Given the description of an element on the screen output the (x, y) to click on. 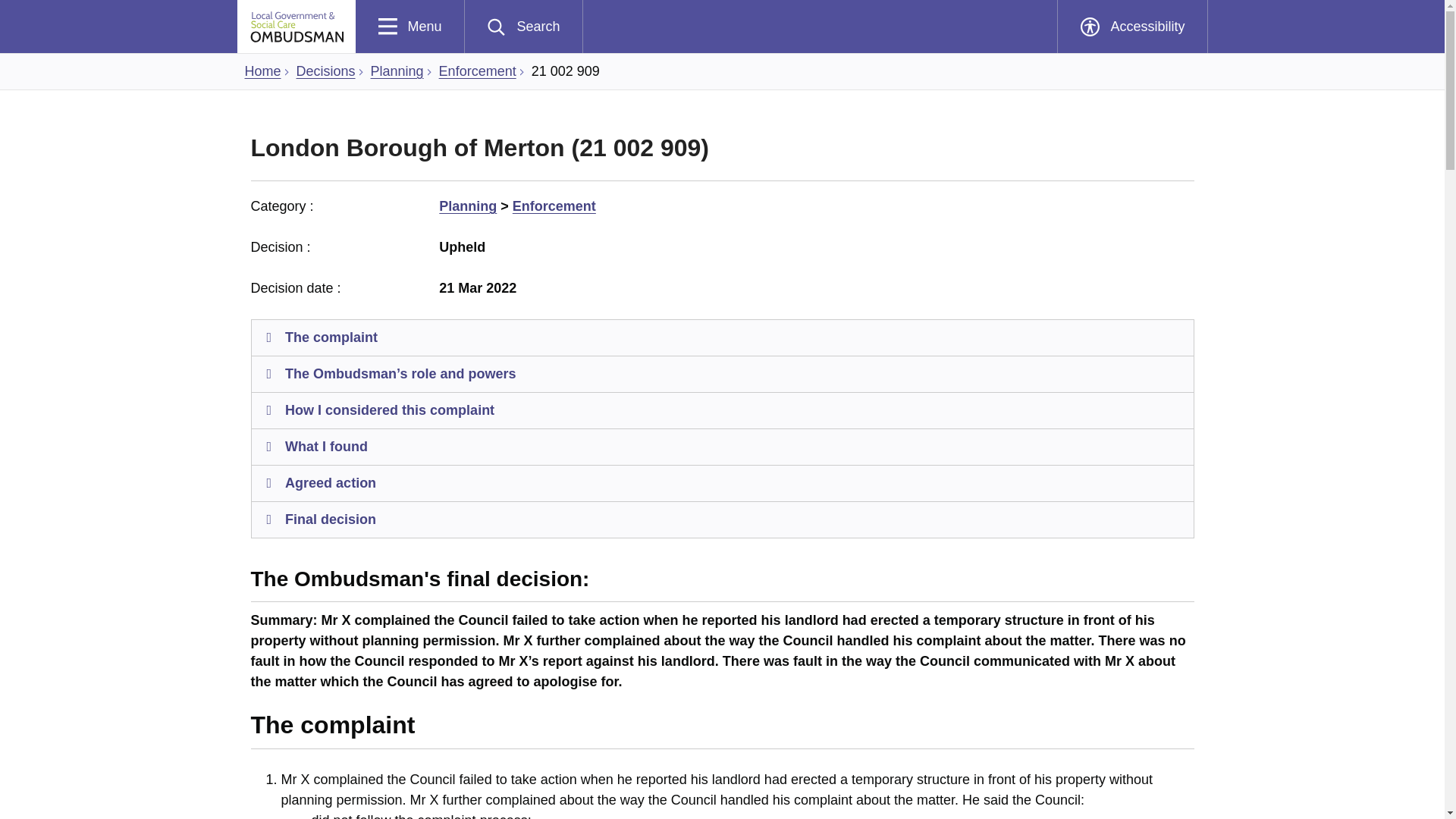
Enforcement (477, 70)
Decisions (326, 70)
The complaint (722, 338)
Enforcement (477, 70)
Enforcement (409, 26)
Planning (553, 206)
Home (397, 70)
What I found (262, 70)
Planning (722, 447)
